Given the description of an element on the screen output the (x, y) to click on. 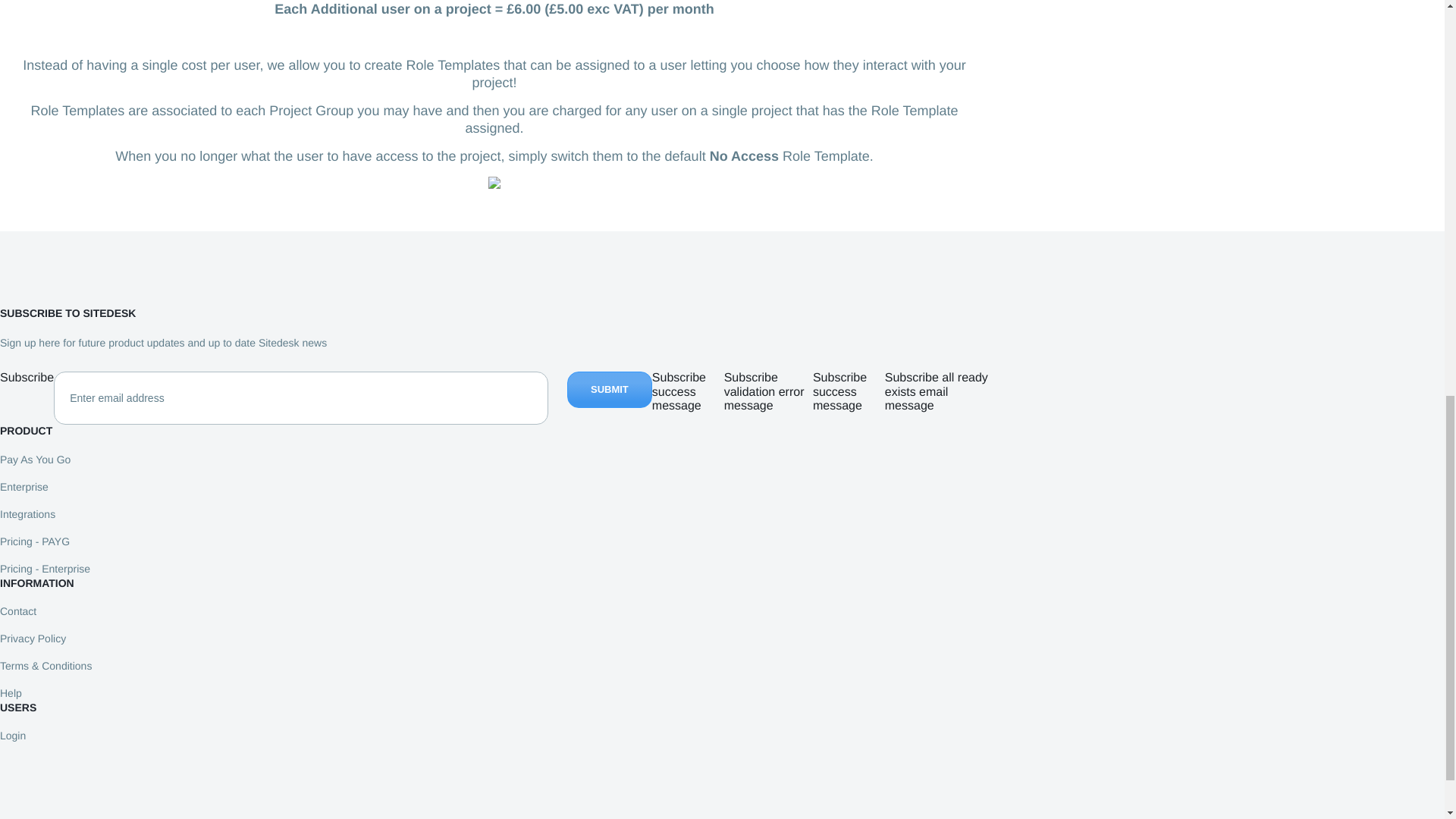
Integrations (27, 513)
Login (13, 735)
Pricing - PAYG (34, 541)
Pricing - Enterprise (45, 568)
Contact (18, 611)
Help (10, 693)
Privacy Policy (32, 638)
Enterprise (24, 486)
Pay As You Go (34, 459)
SUBMIT (609, 389)
